Given the description of an element on the screen output the (x, y) to click on. 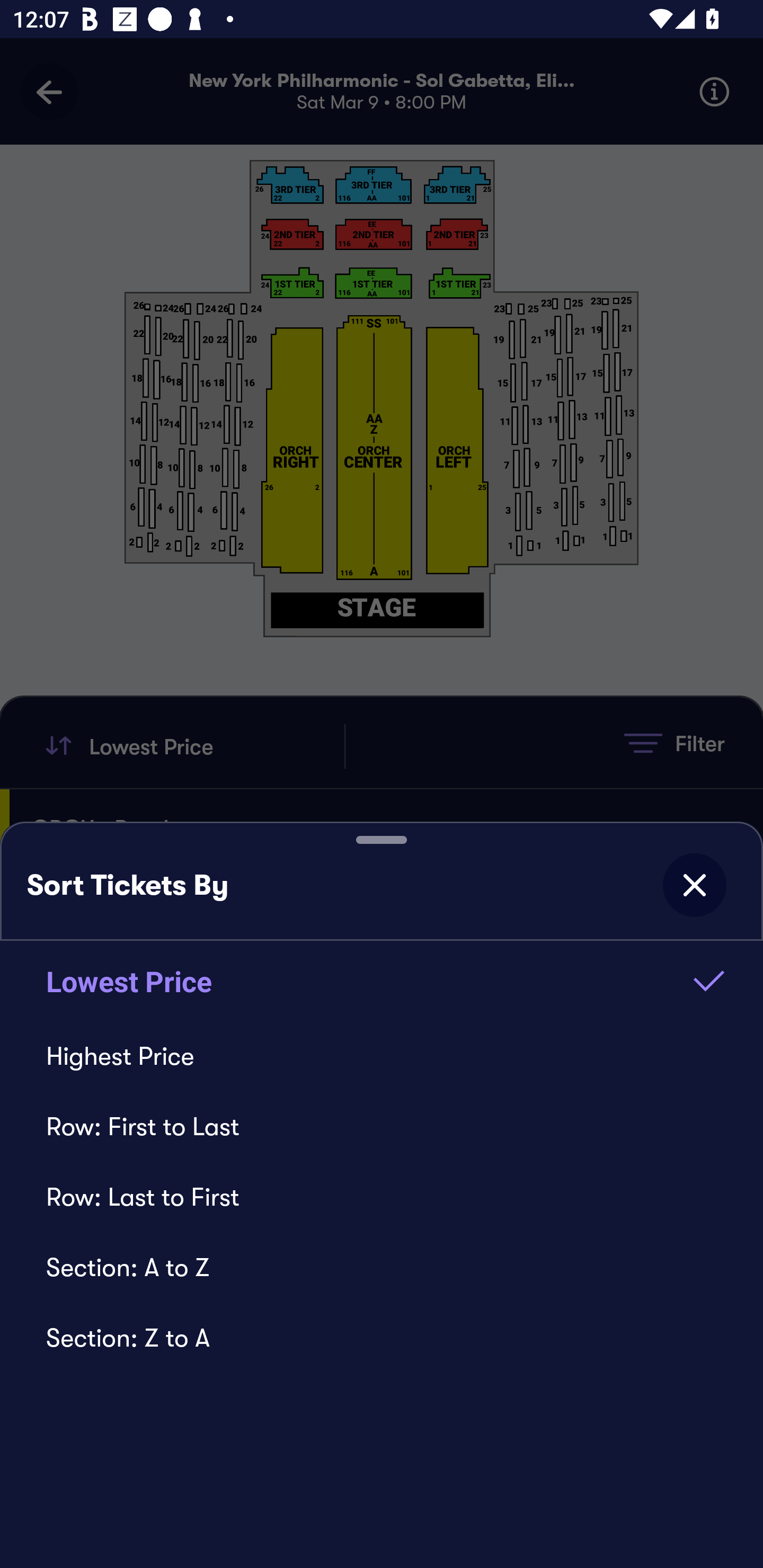
close (694, 884)
Lowest Price (381, 980)
Highest Price (381, 1055)
Row: First to Last (381, 1126)
Row: Last to First (381, 1196)
Section: A to Z (381, 1267)
Section: Z to A (381, 1338)
